Given the description of an element on the screen output the (x, y) to click on. 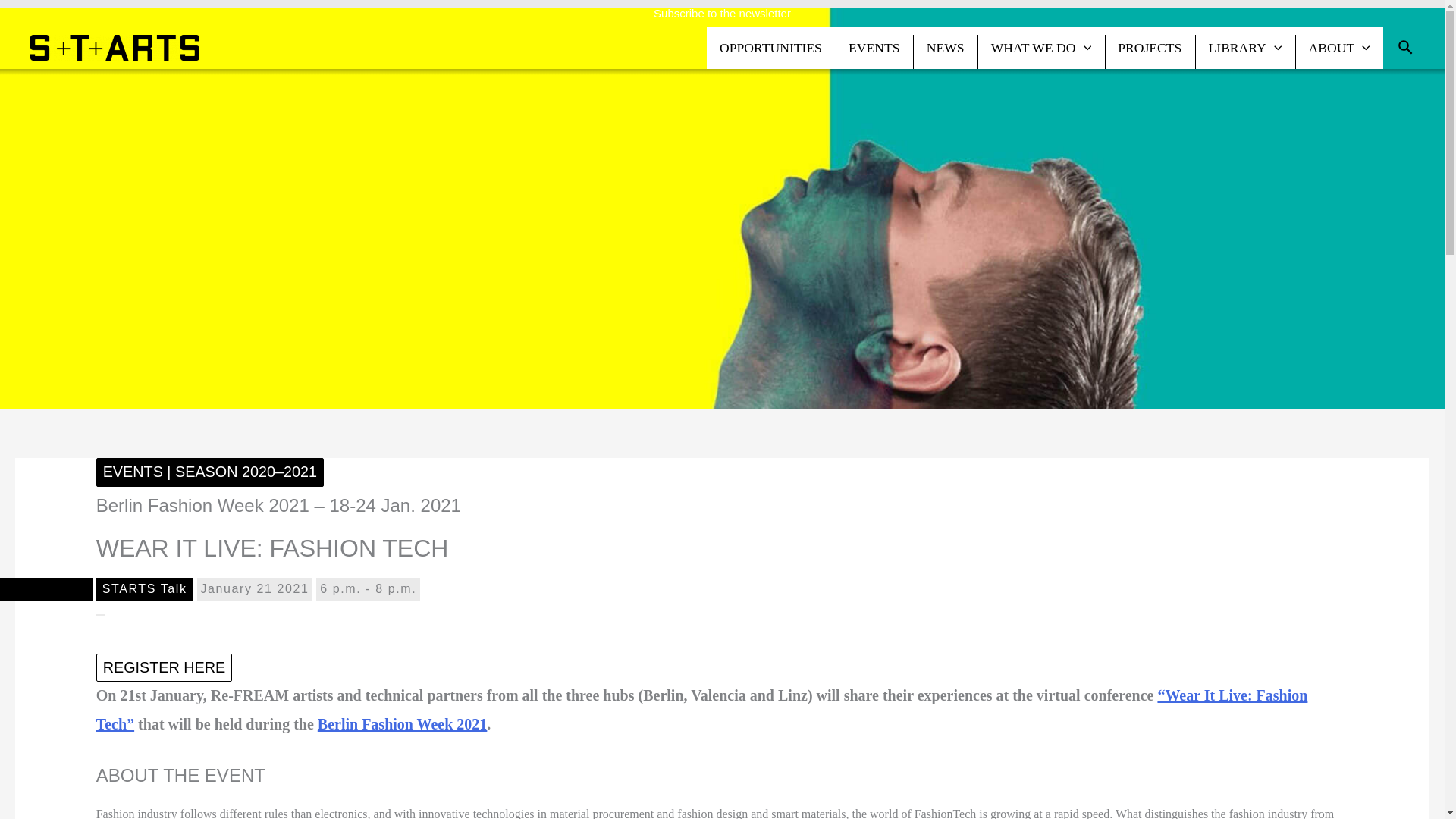
Subscribe to the newsletter (721, 11)
PROJECTS (1150, 47)
NEWS (944, 47)
OPPORTUNITIES (770, 47)
WHAT WE DO (1039, 47)
EVENTS (874, 47)
